Given the description of an element on the screen output the (x, y) to click on. 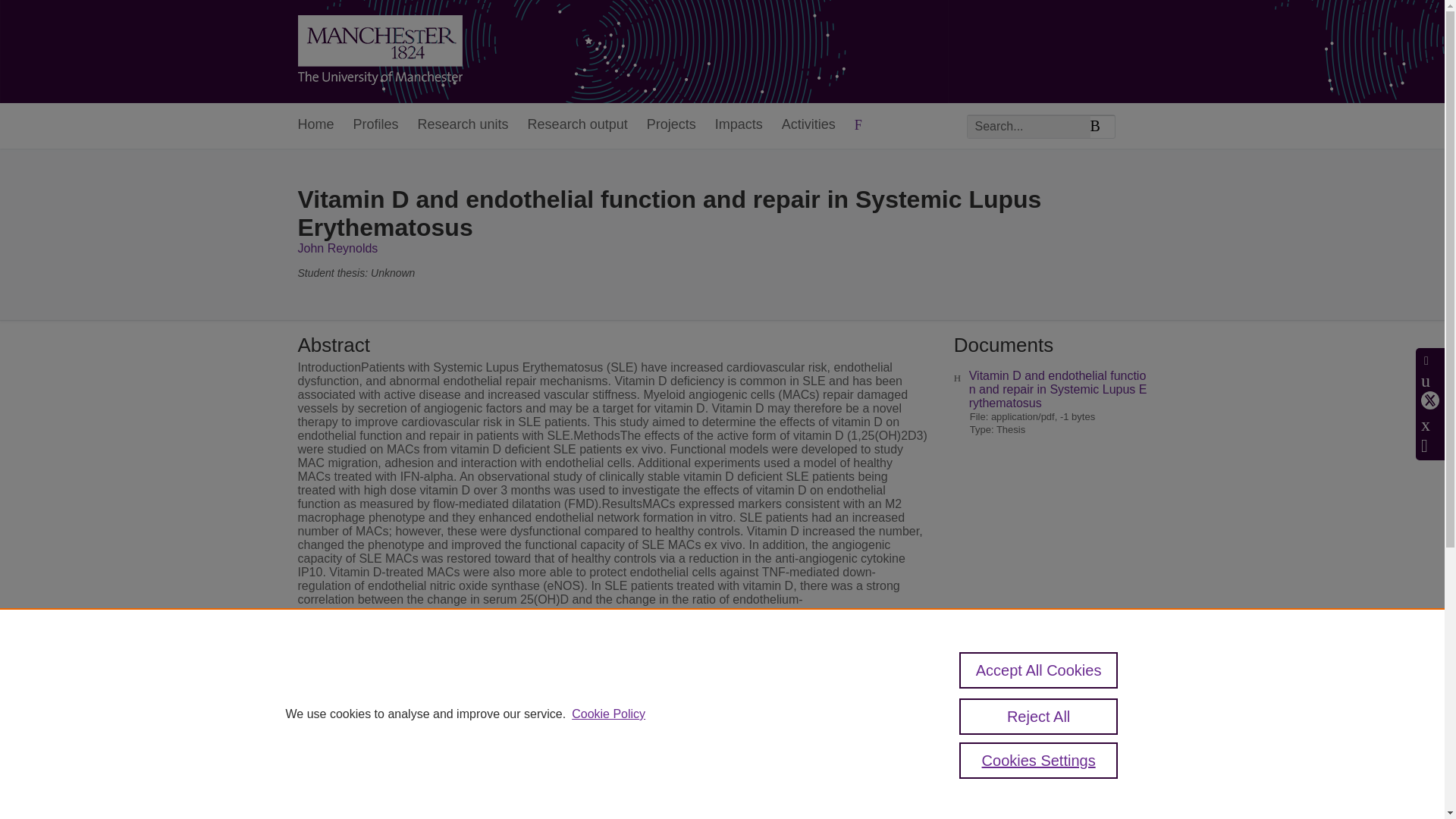
Cookie Policy (608, 713)
Projects (670, 125)
Cookies Settings (1038, 760)
John Reynolds (337, 247)
Impacts (738, 125)
Research output (577, 125)
Terence O'Neill (796, 765)
Research units (462, 125)
Research Explorer The University of Manchester Home (379, 51)
